Given the description of an element on the screen output the (x, y) to click on. 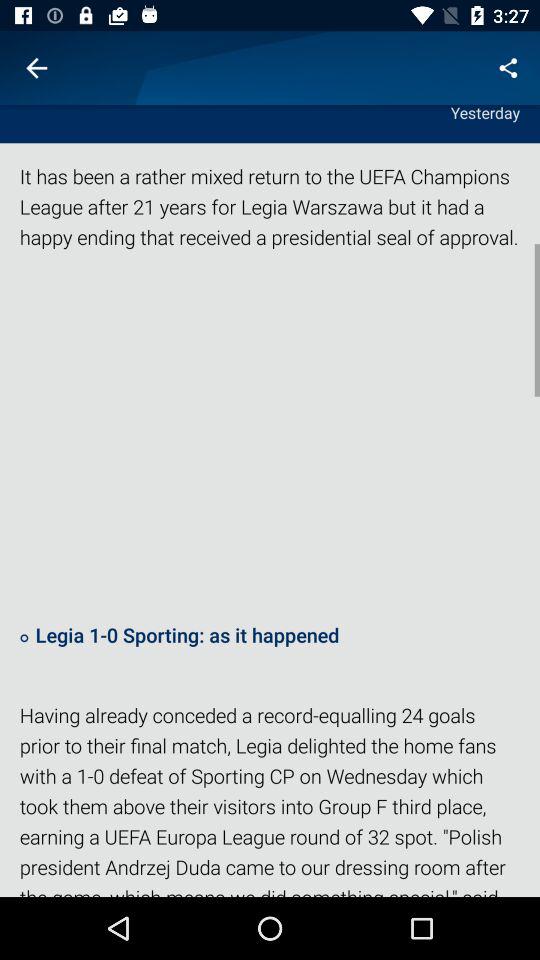
click the item below the yesterday icon (269, 215)
